Given the description of an element on the screen output the (x, y) to click on. 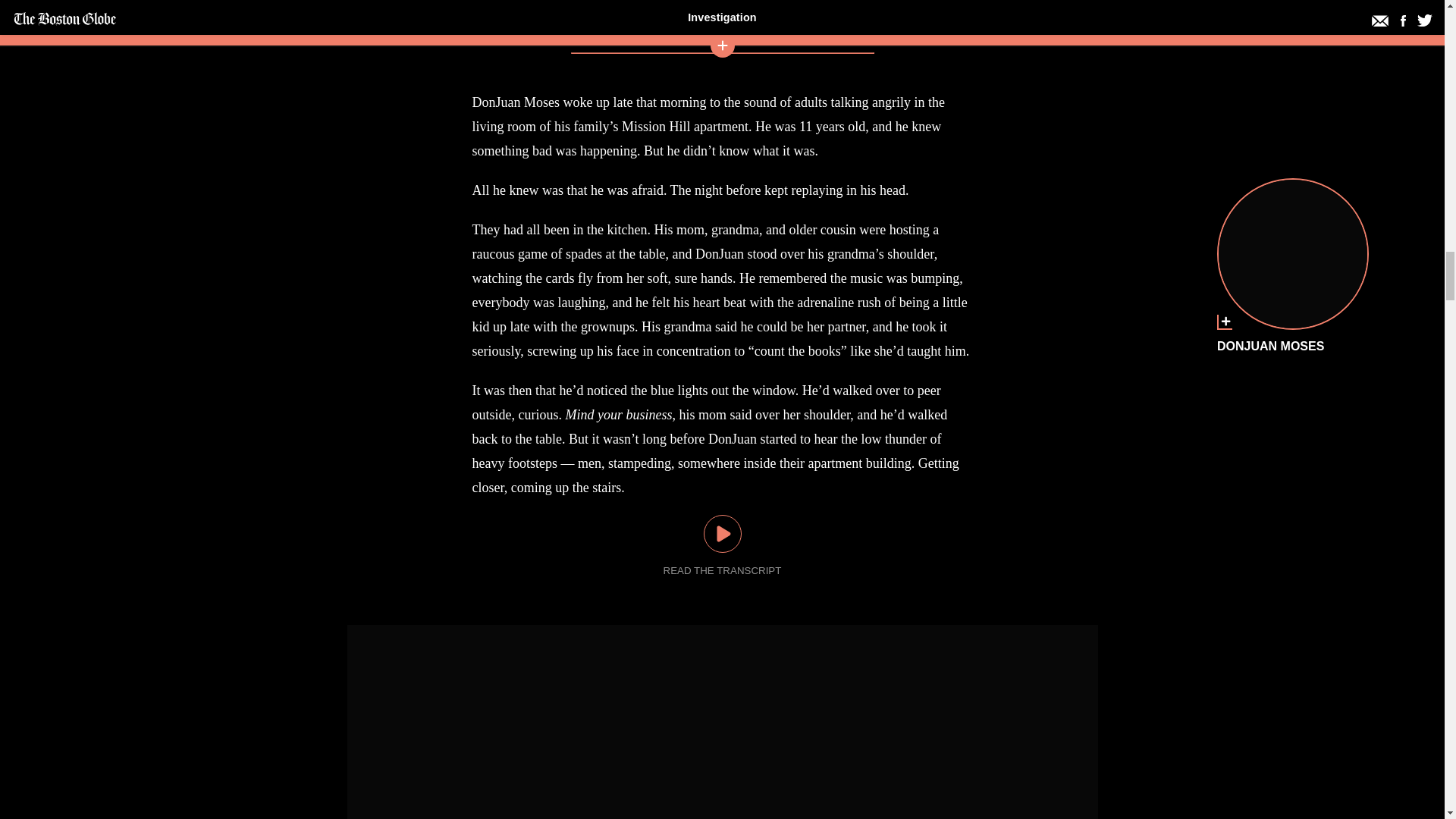
DONJUAN MOSES (1292, 254)
READ THE TRANSCRIPT (722, 570)
